Given the description of an element on the screen output the (x, y) to click on. 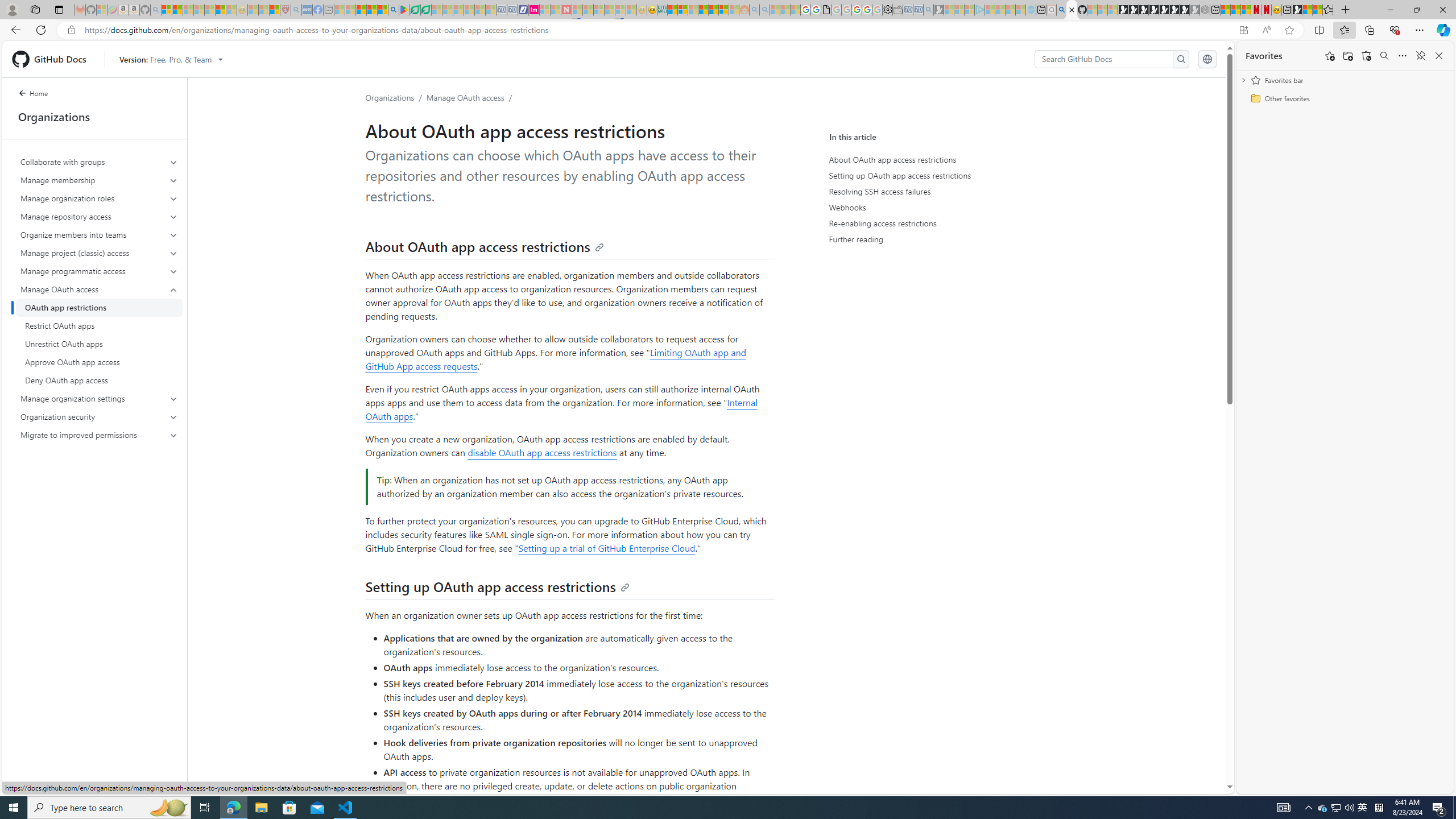
Add this page to favorites (1330, 55)
Manage membership (99, 180)
Manage organization settings (99, 398)
Manage OAuth access (99, 334)
Re-enabling access restrictions (933, 223)
